Given the description of an element on the screen output the (x, y) to click on. 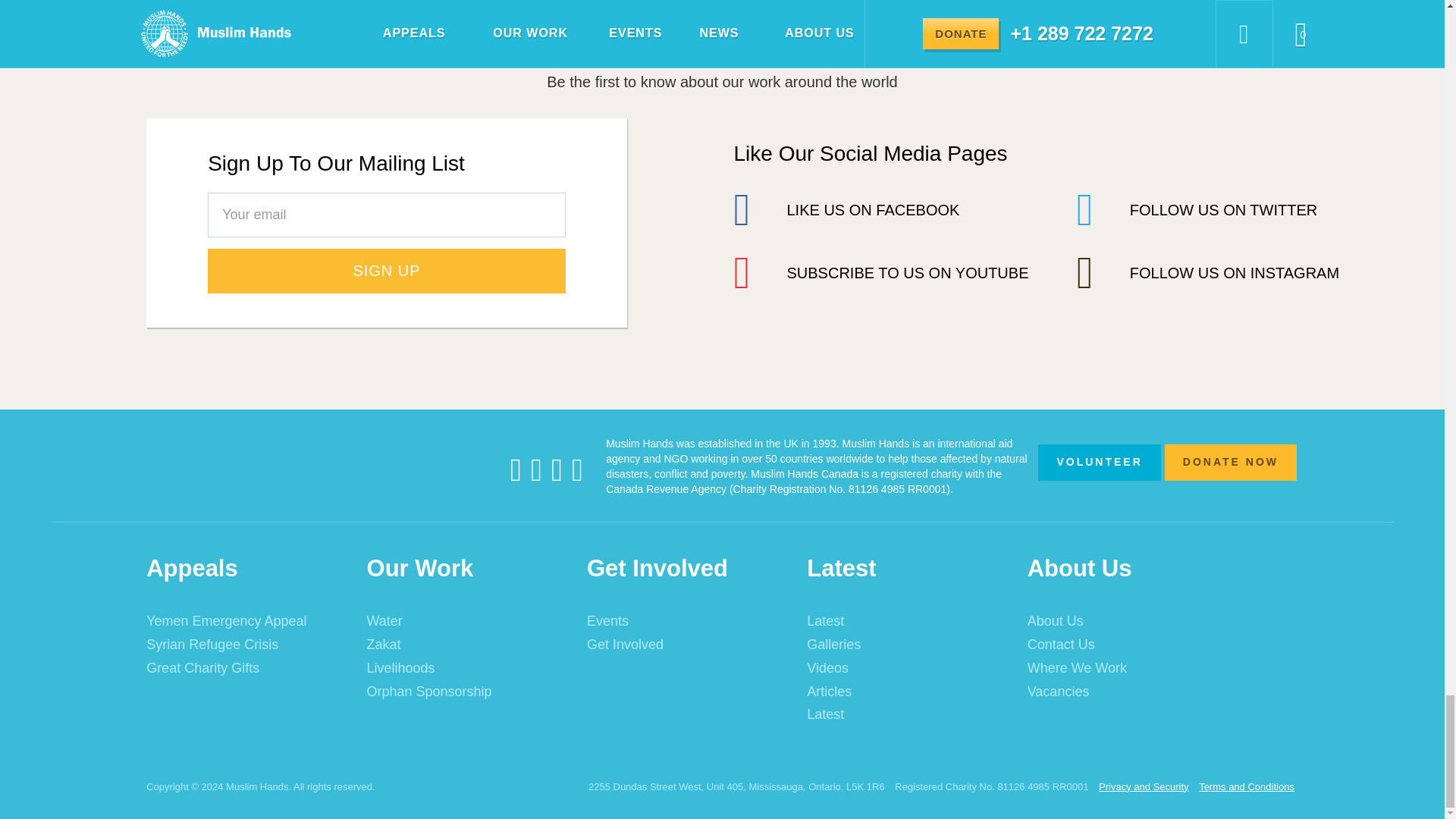
Water (465, 621)
Zakat (465, 645)
Livelihoods (465, 668)
Syrian Refugee Crisis (245, 645)
Orphan Sponsorship (465, 691)
Great Charity Gifts (245, 668)
Yemen Emergency Appeal (245, 621)
